Given the description of an element on the screen output the (x, y) to click on. 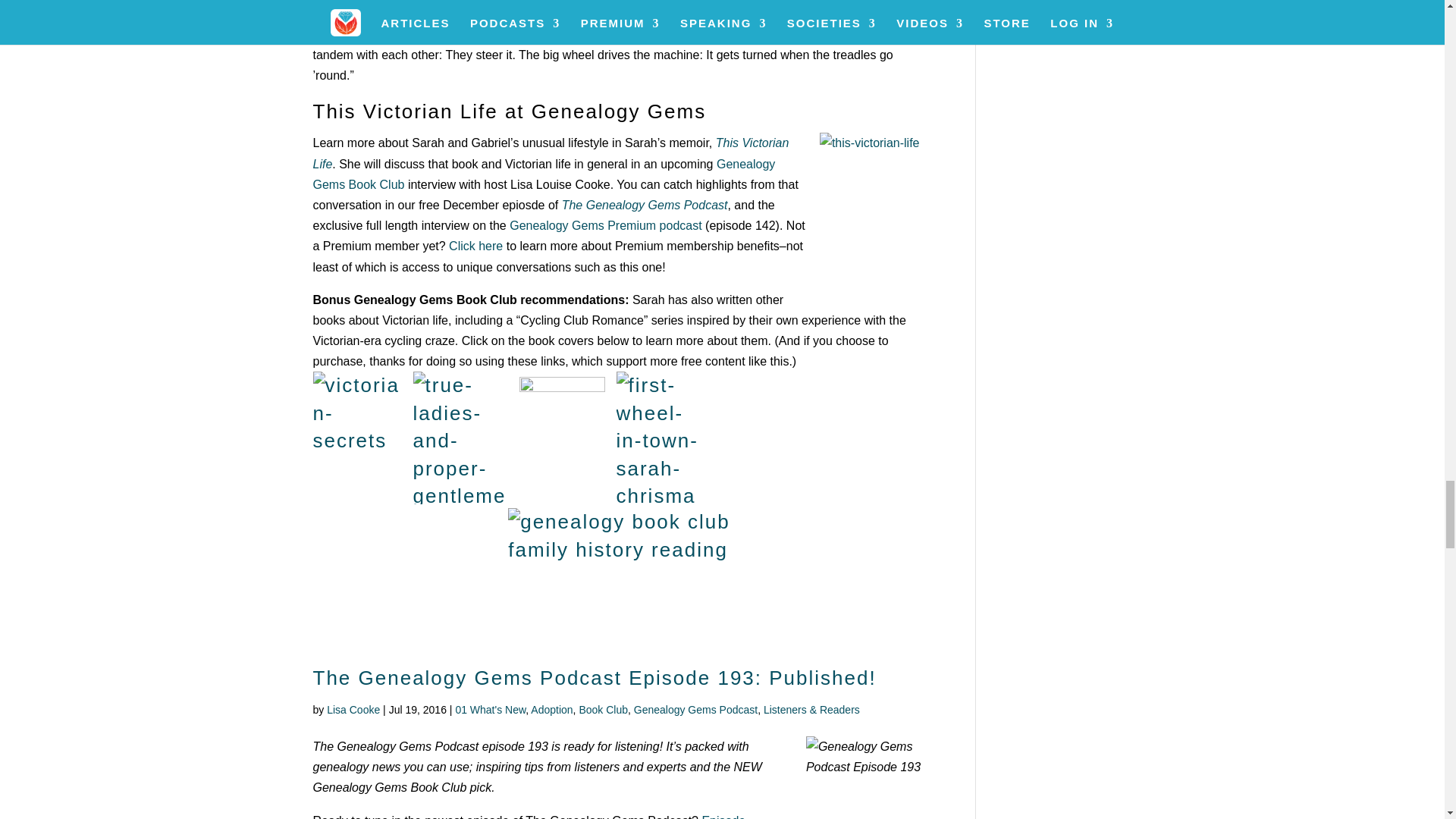
Posts by Lisa Cooke (353, 709)
